Given the description of an element on the screen output the (x, y) to click on. 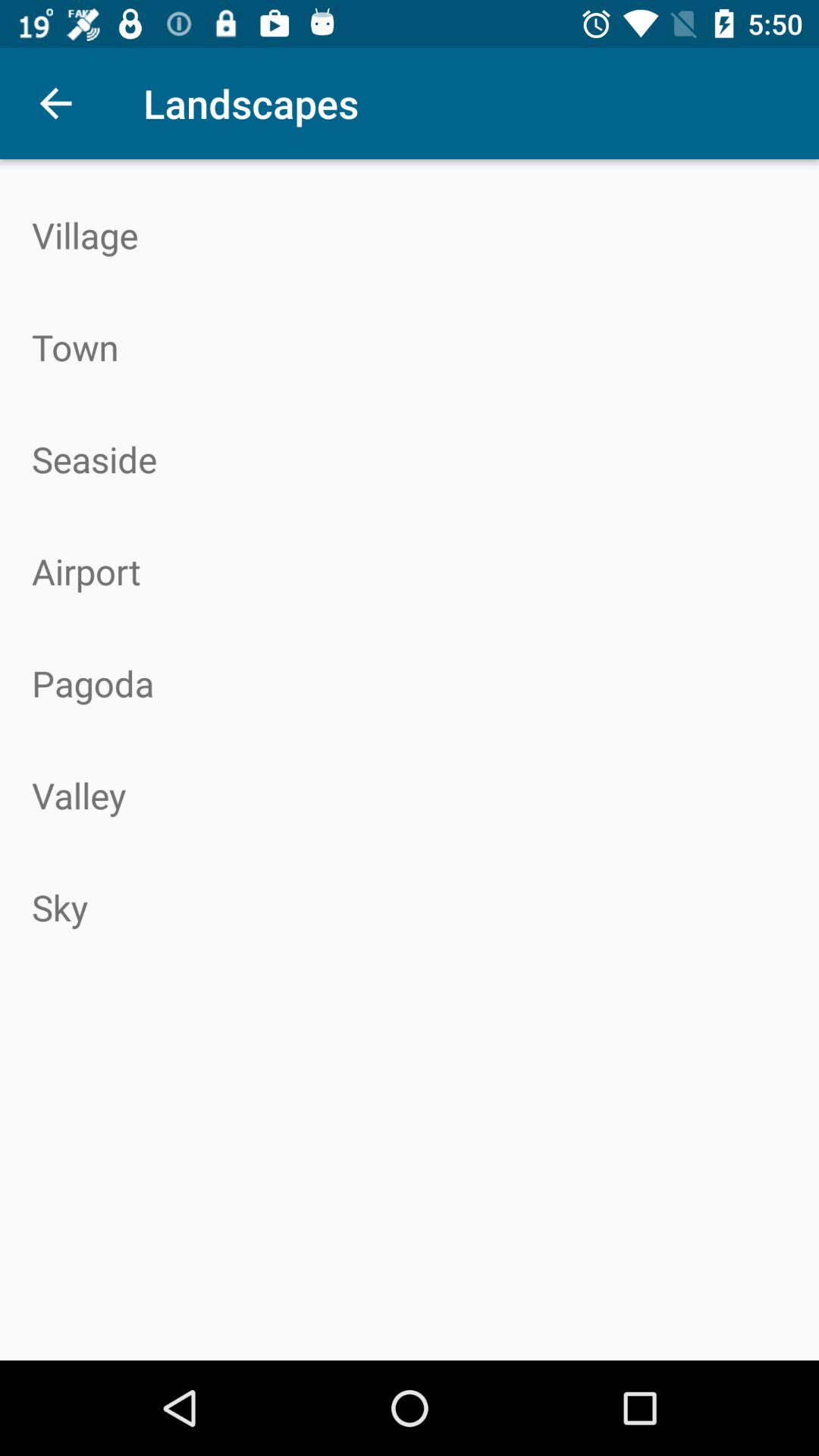
open the item below the village item (409, 347)
